Given the description of an element on the screen output the (x, y) to click on. 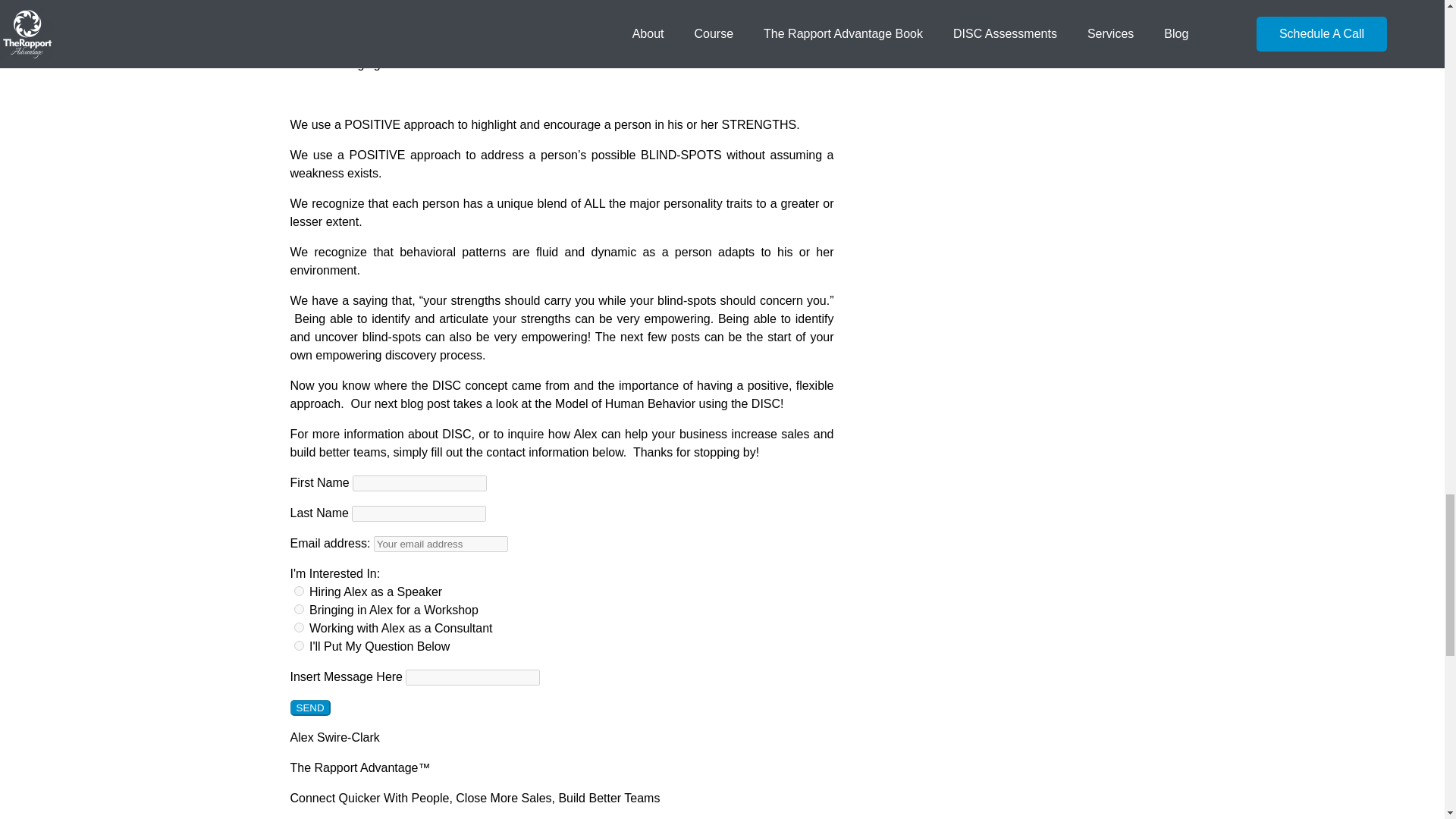
SEND (309, 707)
Hiring Alex as a Speaker (299, 591)
I'll Put My Question Below (299, 645)
Working with Alex as a Consultant (299, 627)
Bringing in Alex for a Workshop (299, 609)
SEND (309, 707)
